Given the description of an element on the screen output the (x, y) to click on. 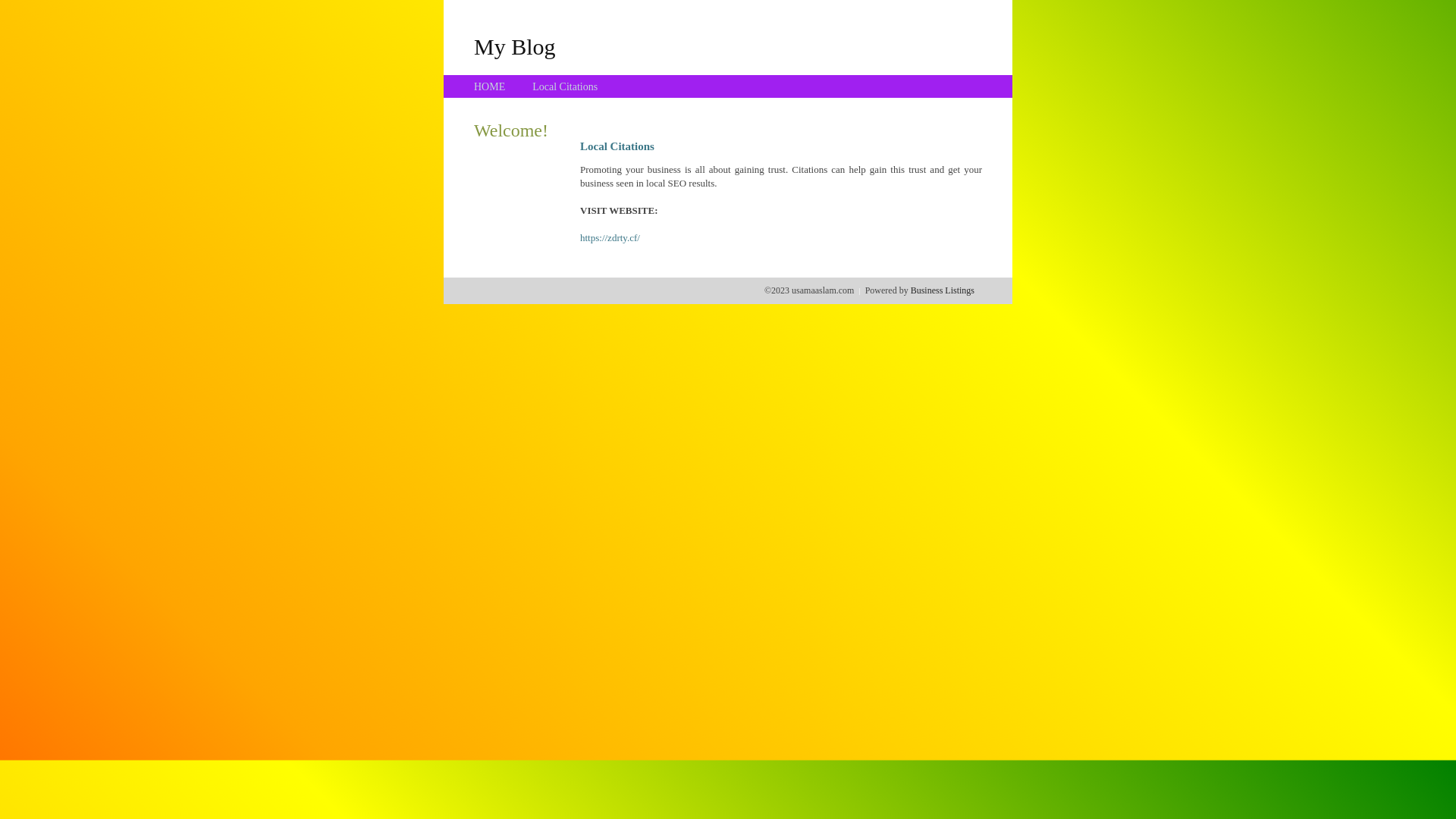
Business Listings Element type: text (942, 290)
Local Citations Element type: text (564, 86)
HOME Element type: text (489, 86)
My Blog Element type: text (514, 46)
https://zdrty.cf/ Element type: text (610, 237)
